Given the description of an element on the screen output the (x, y) to click on. 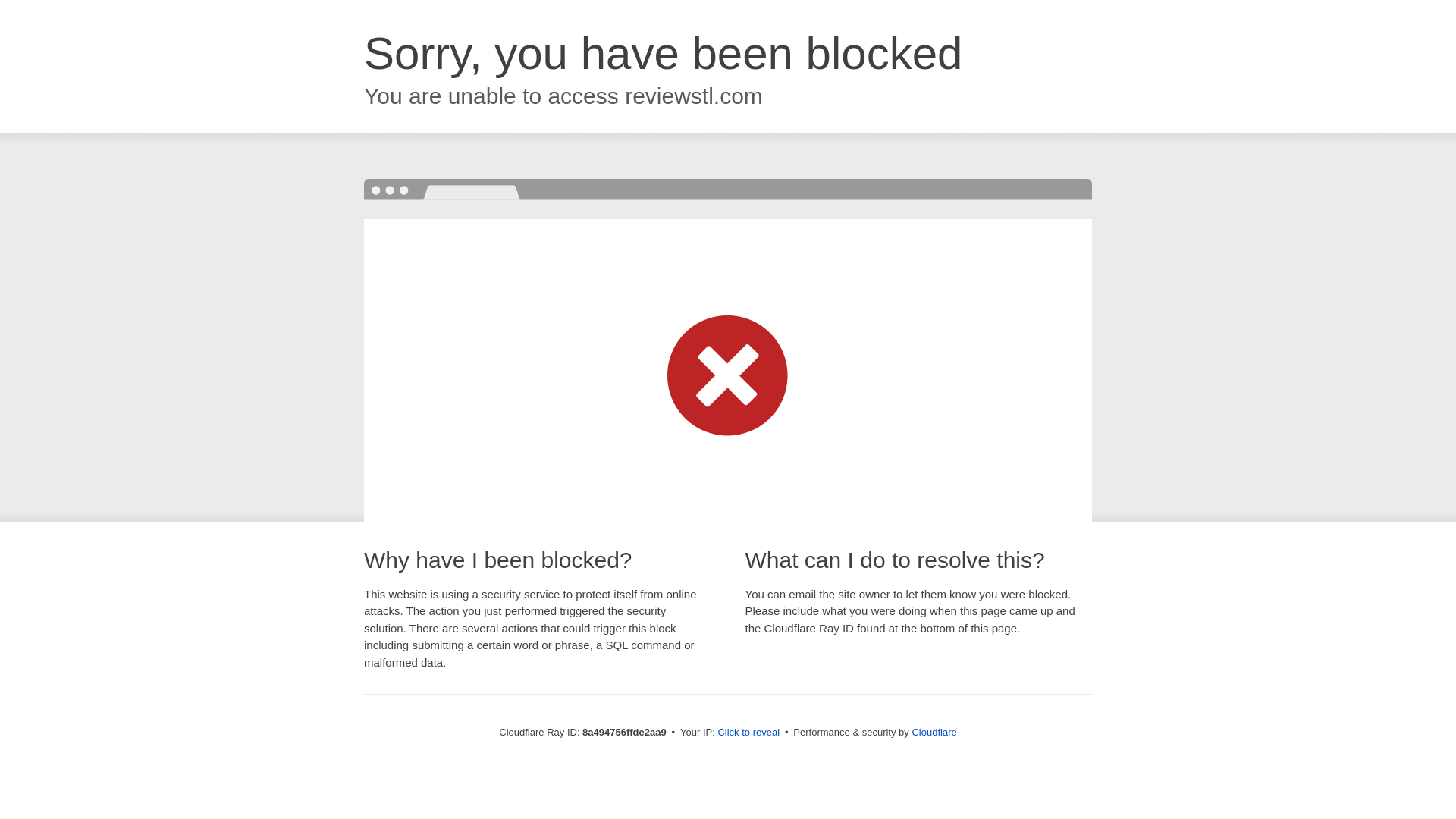
Click to reveal (747, 732)
Cloudflare (933, 731)
